Given the description of an element on the screen output the (x, y) to click on. 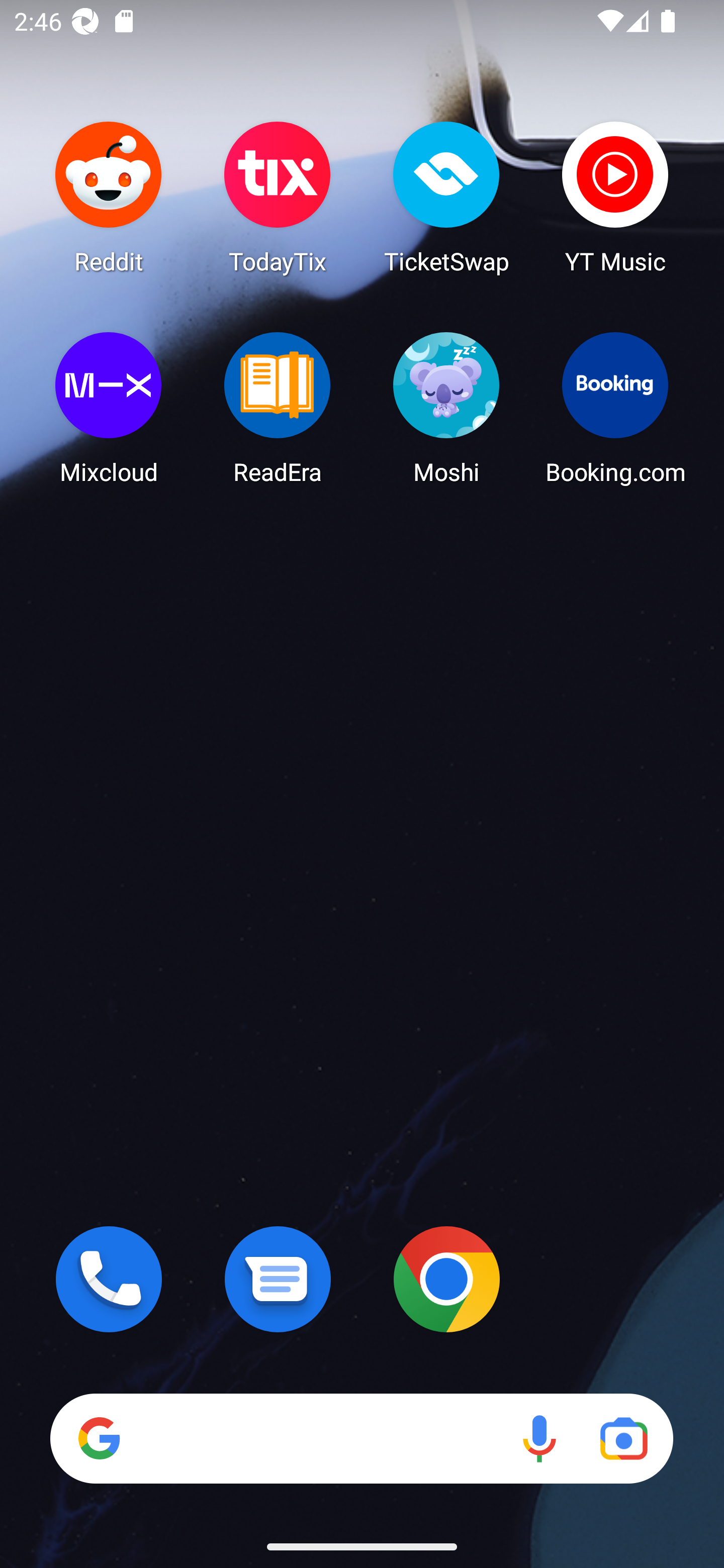
Reddit (108, 196)
TodayTix (277, 196)
TicketSwap (445, 196)
YT Music (615, 196)
Mixcloud (108, 407)
ReadEra (277, 407)
Moshi (445, 407)
Booking.com (615, 407)
Phone (108, 1279)
Messages (277, 1279)
Chrome (446, 1279)
Search Voice search Google Lens (361, 1438)
Voice search (539, 1438)
Google Lens (623, 1438)
